Given the description of an element on the screen output the (x, y) to click on. 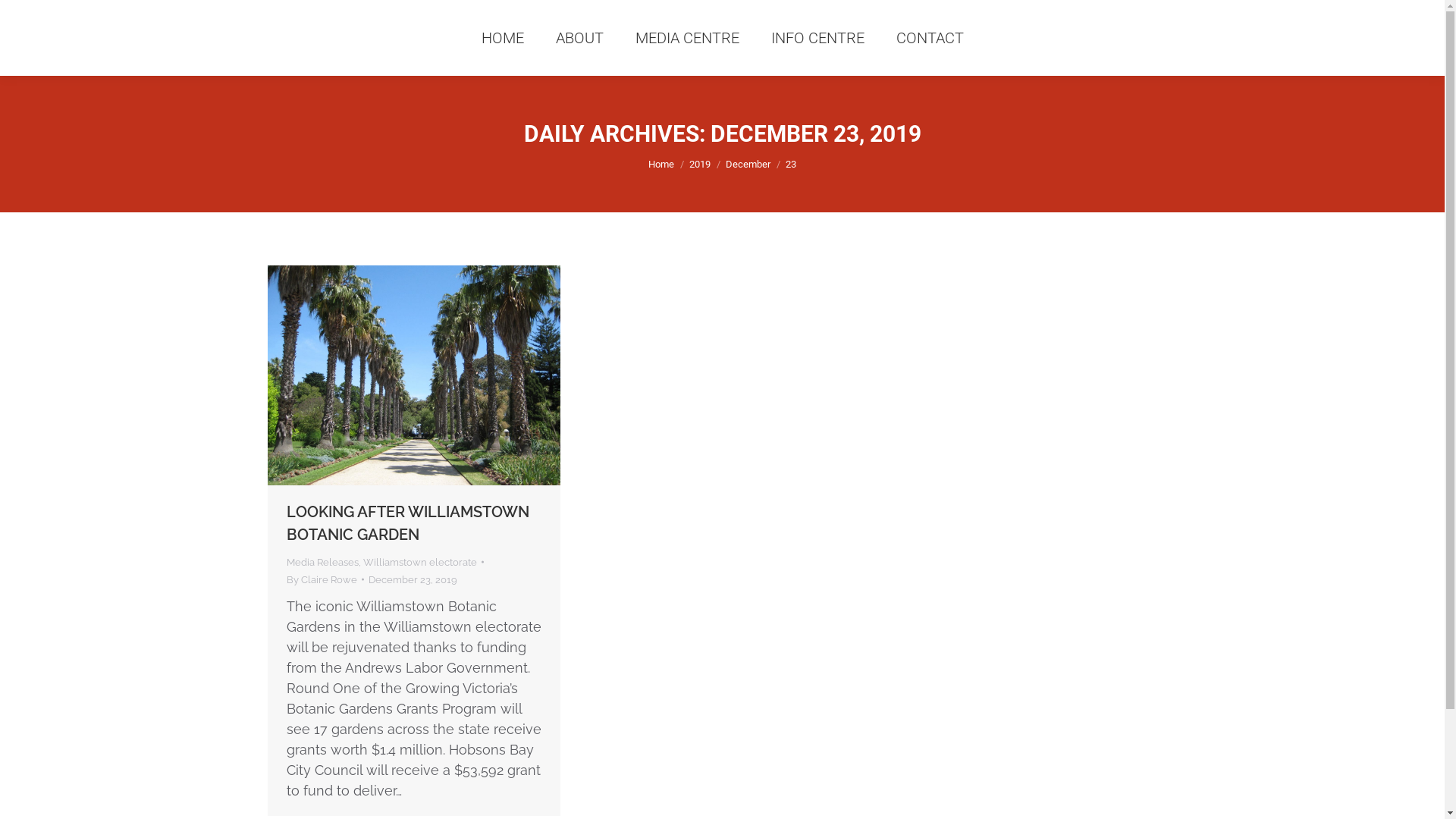
LOOKING AFTER WILLIAMSTOWN BOTANIC GARDEN Element type: text (407, 522)
Media Releases Element type: text (322, 561)
HOME Element type: text (501, 37)
Home Element type: text (661, 163)
MEDIA CENTRE Element type: text (687, 37)
Williamstown BG Element type: hover (412, 375)
CONTACT Element type: text (929, 37)
December 23, 2019 Element type: text (412, 579)
ABOUT Element type: text (578, 37)
INFO CENTRE Element type: text (816, 37)
December Element type: text (747, 163)
Williamstown electorate Element type: text (419, 561)
By Claire Rowe Element type: text (325, 579)
2019 Element type: text (699, 163)
